Given the description of an element on the screen output the (x, y) to click on. 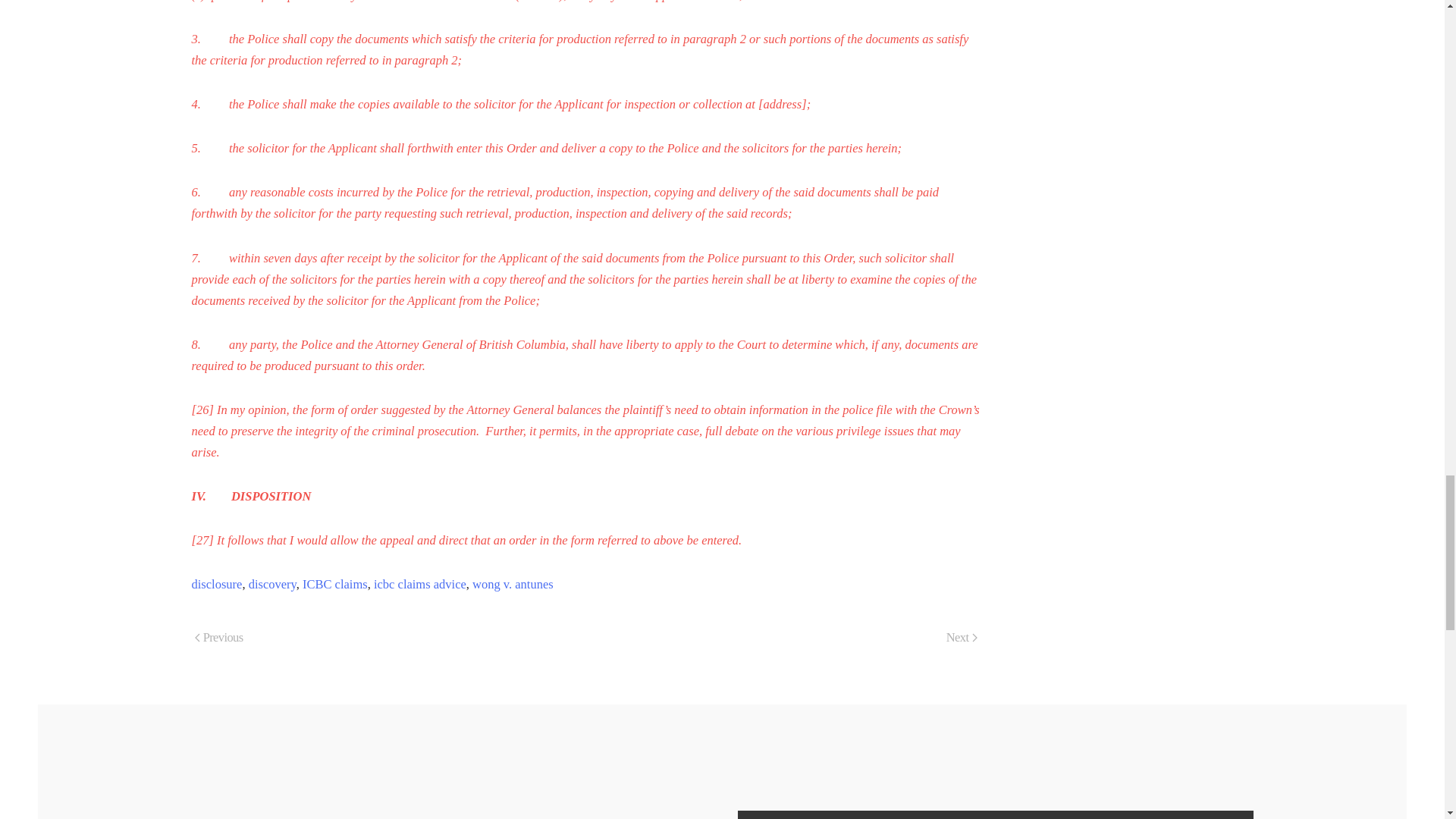
ICBC claims (335, 584)
discovery (272, 584)
wong v. antunes (512, 584)
Next (961, 638)
Previous (218, 638)
icbc claims advice (419, 584)
disclosure (215, 584)
